Given the description of an element on the screen output the (x, y) to click on. 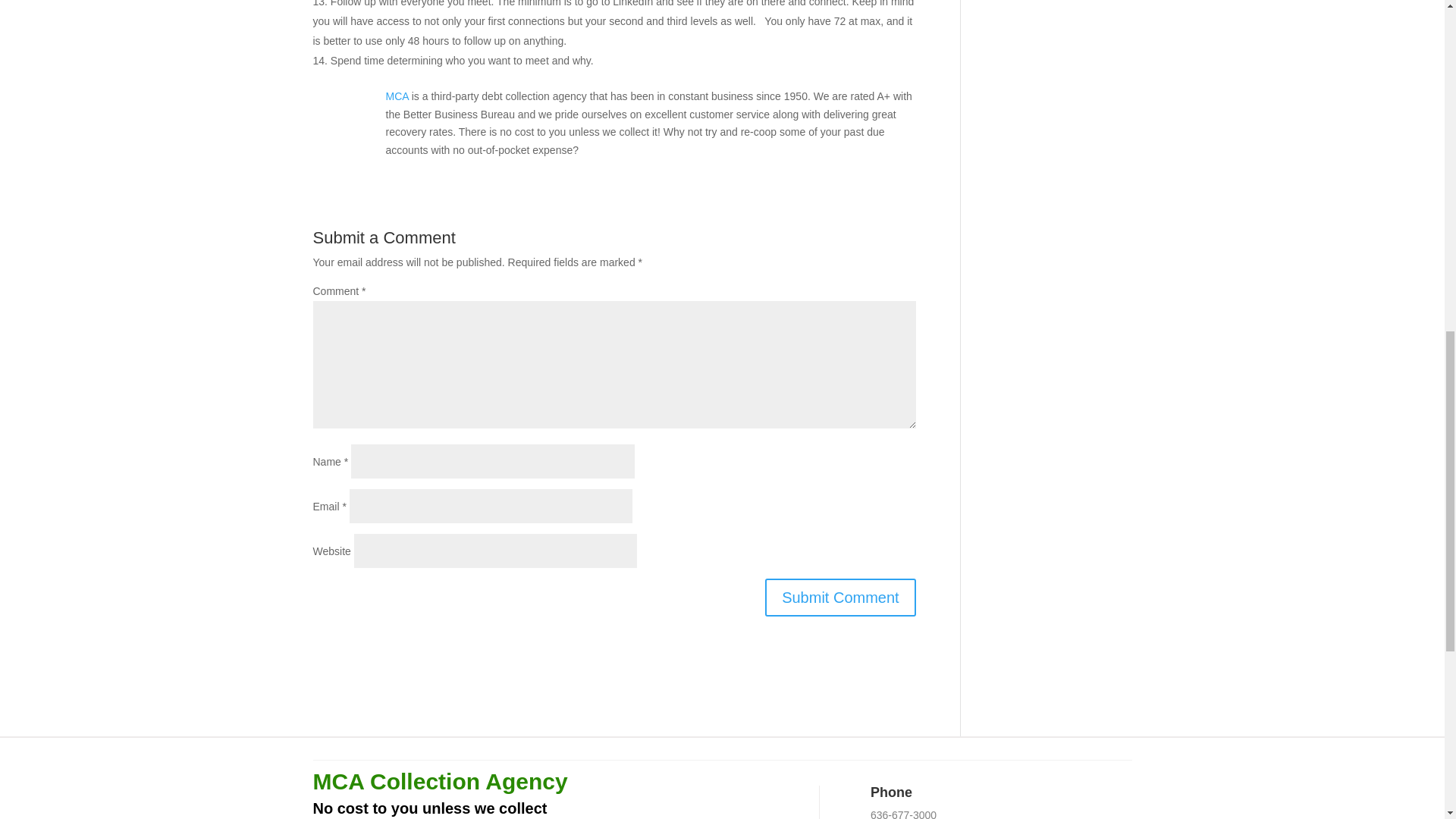
MCA (396, 96)
636-677-3000 (903, 814)
Submit Comment (840, 597)
Submit Comment (840, 597)
